Given the description of an element on the screen output the (x, y) to click on. 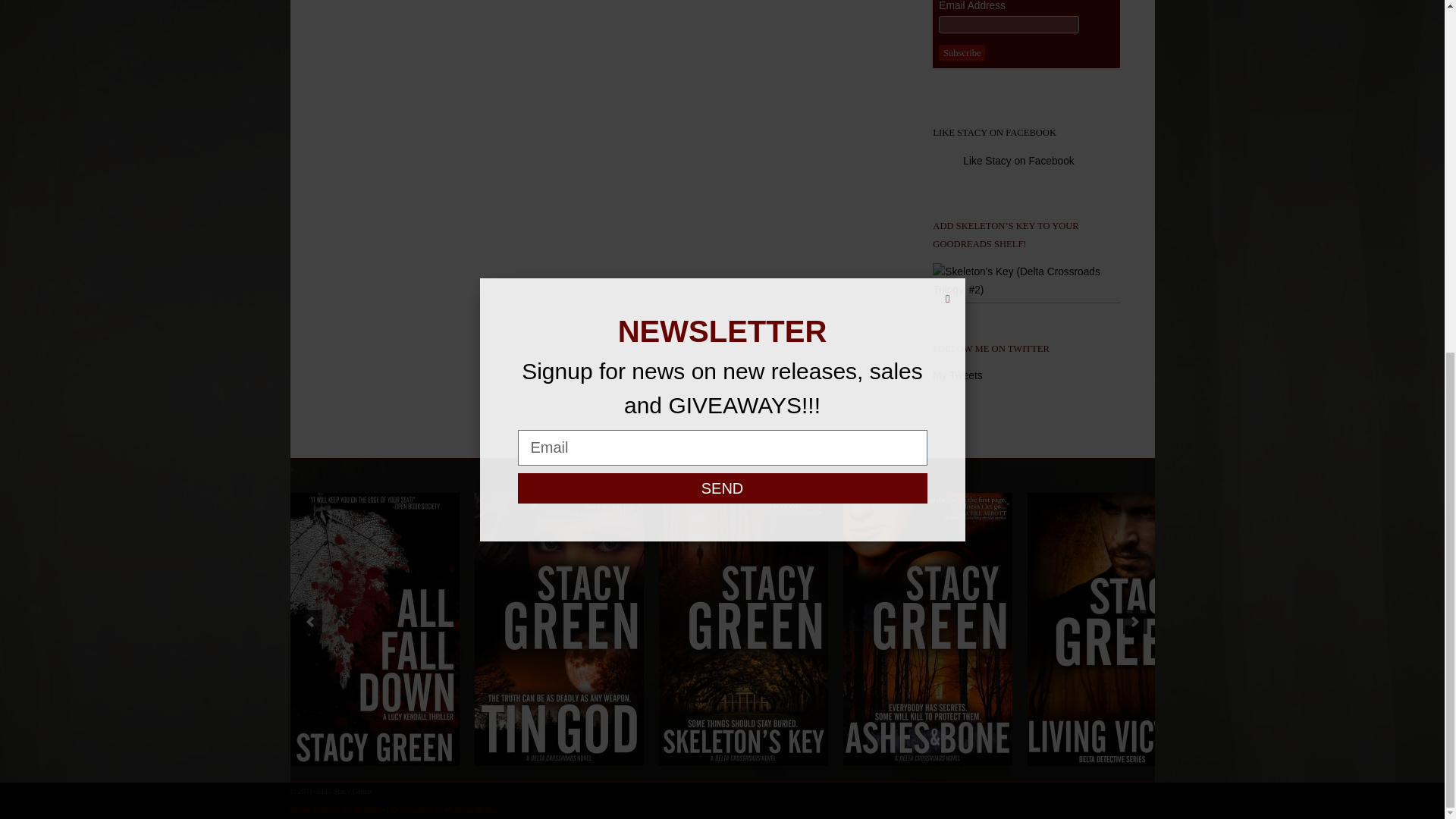
My Tweets (957, 375)
LIKE STACY ON FACEBOOK (995, 132)
Subscribe (962, 53)
Like Stacy on Facebook (1018, 161)
Subscribe (962, 53)
